Given the description of an element on the screen output the (x, y) to click on. 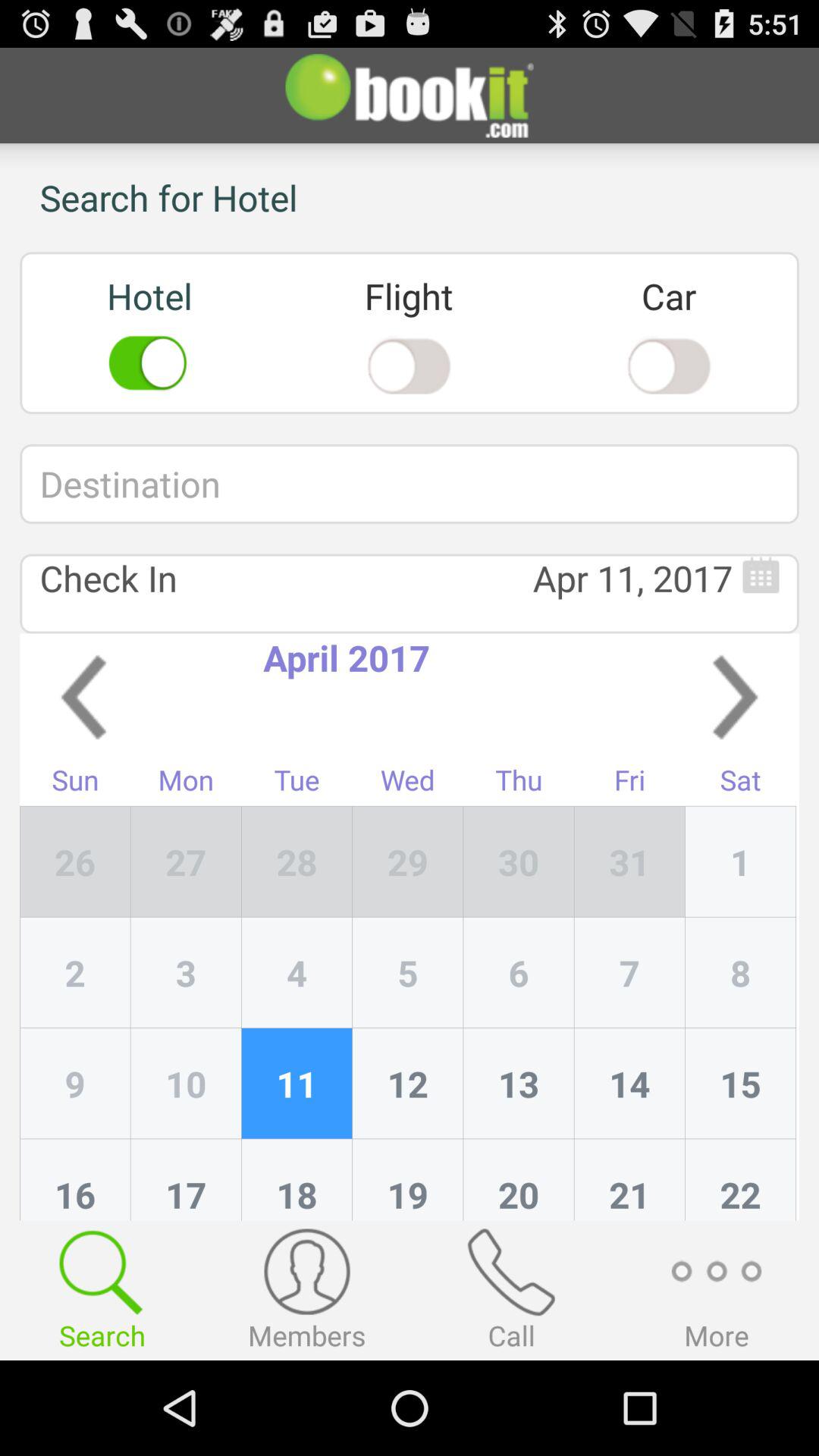
flip to 26 item (74, 861)
